Given the description of an element on the screen output the (x, y) to click on. 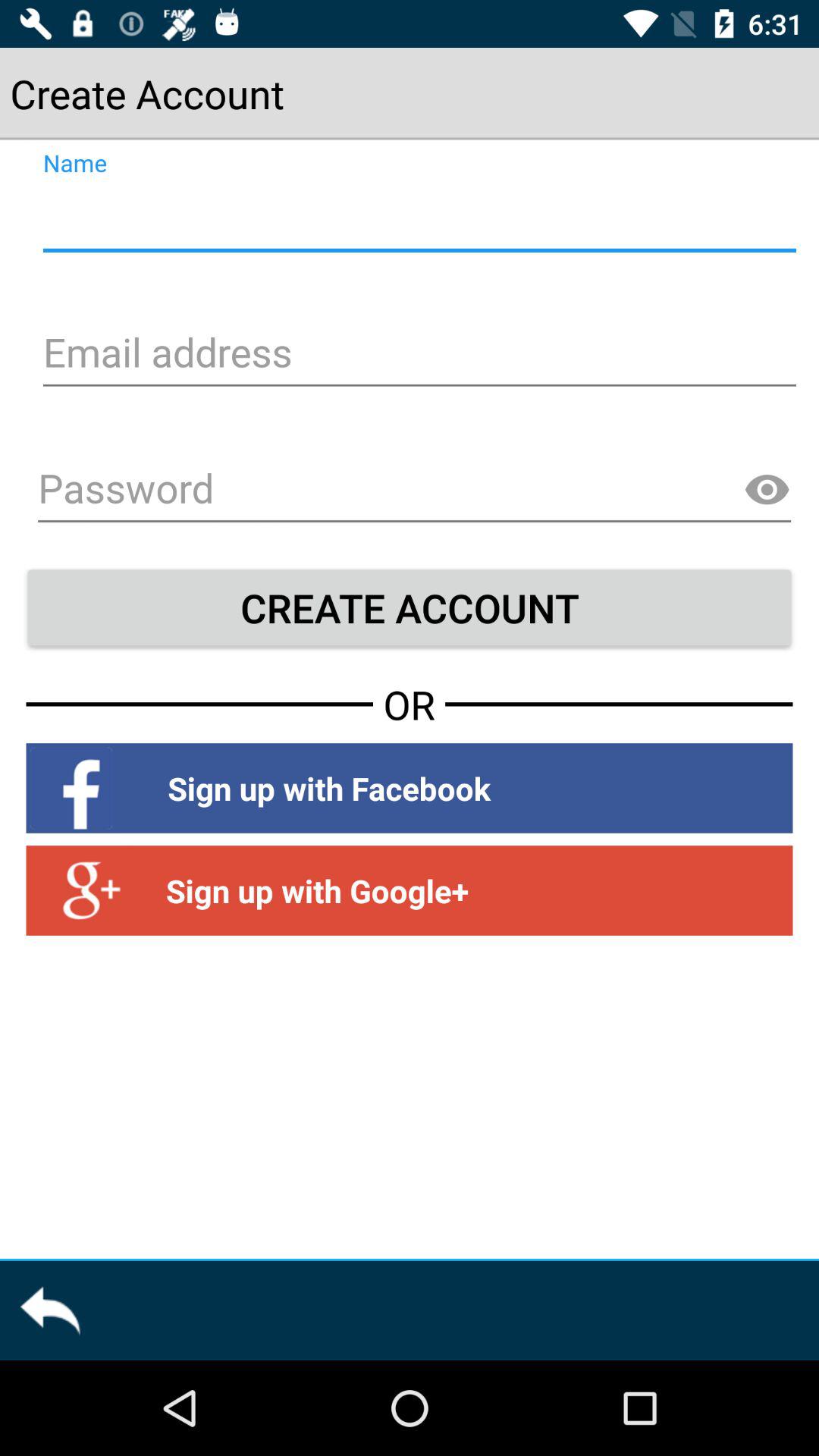
password writing spot (414, 490)
